Given the description of an element on the screen output the (x, y) to click on. 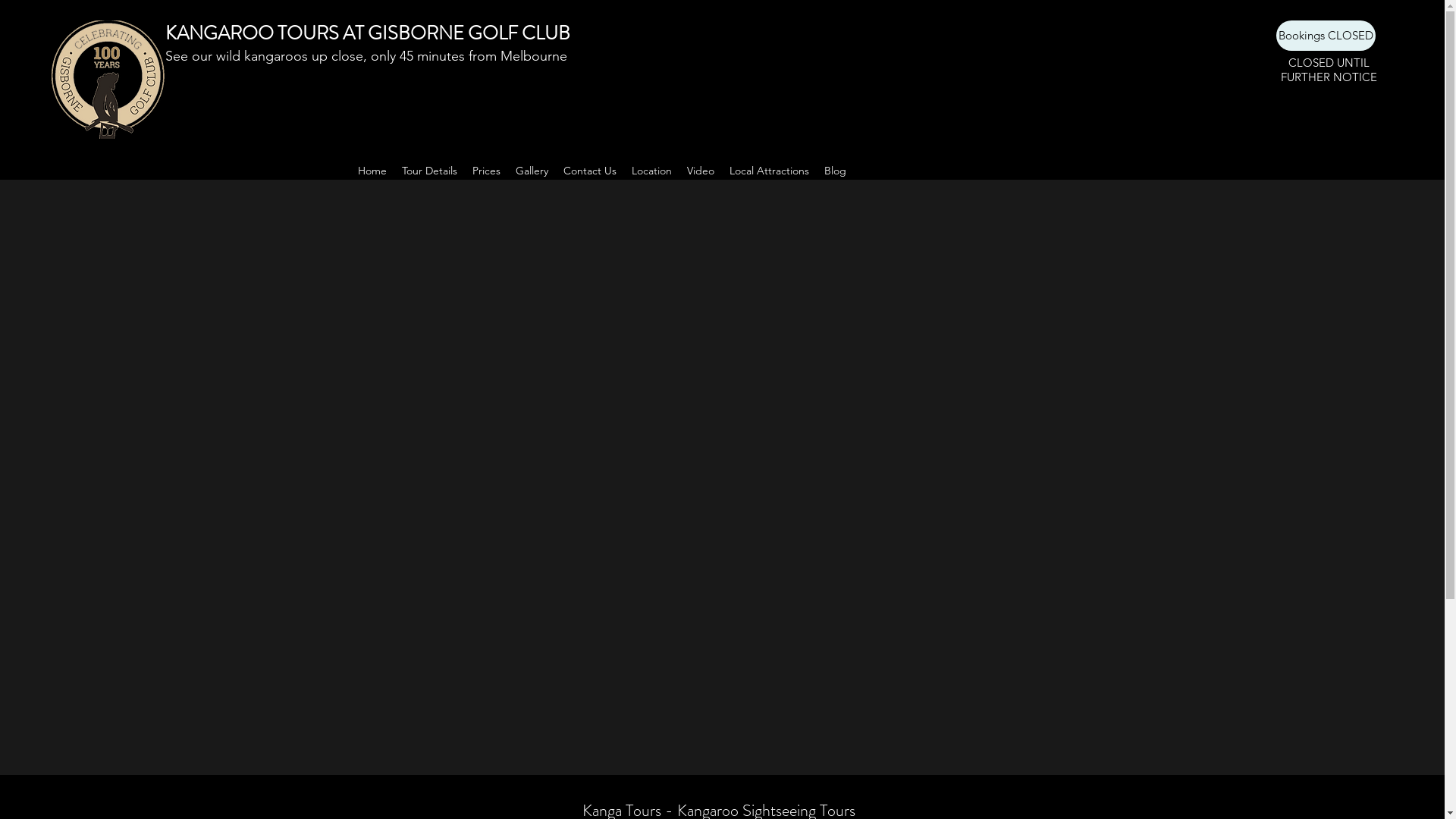
Video Element type: text (700, 170)
Gallery Element type: text (531, 170)
Contact Us Element type: text (589, 170)
Local Attractions Element type: text (768, 170)
Home Element type: text (372, 170)
Prices Element type: text (485, 170)
Blog Element type: text (834, 170)
Google Maps Element type: hover (721, 456)
Tour Details Element type: text (429, 170)
Location Element type: text (650, 170)
